Given the description of an element on the screen output the (x, y) to click on. 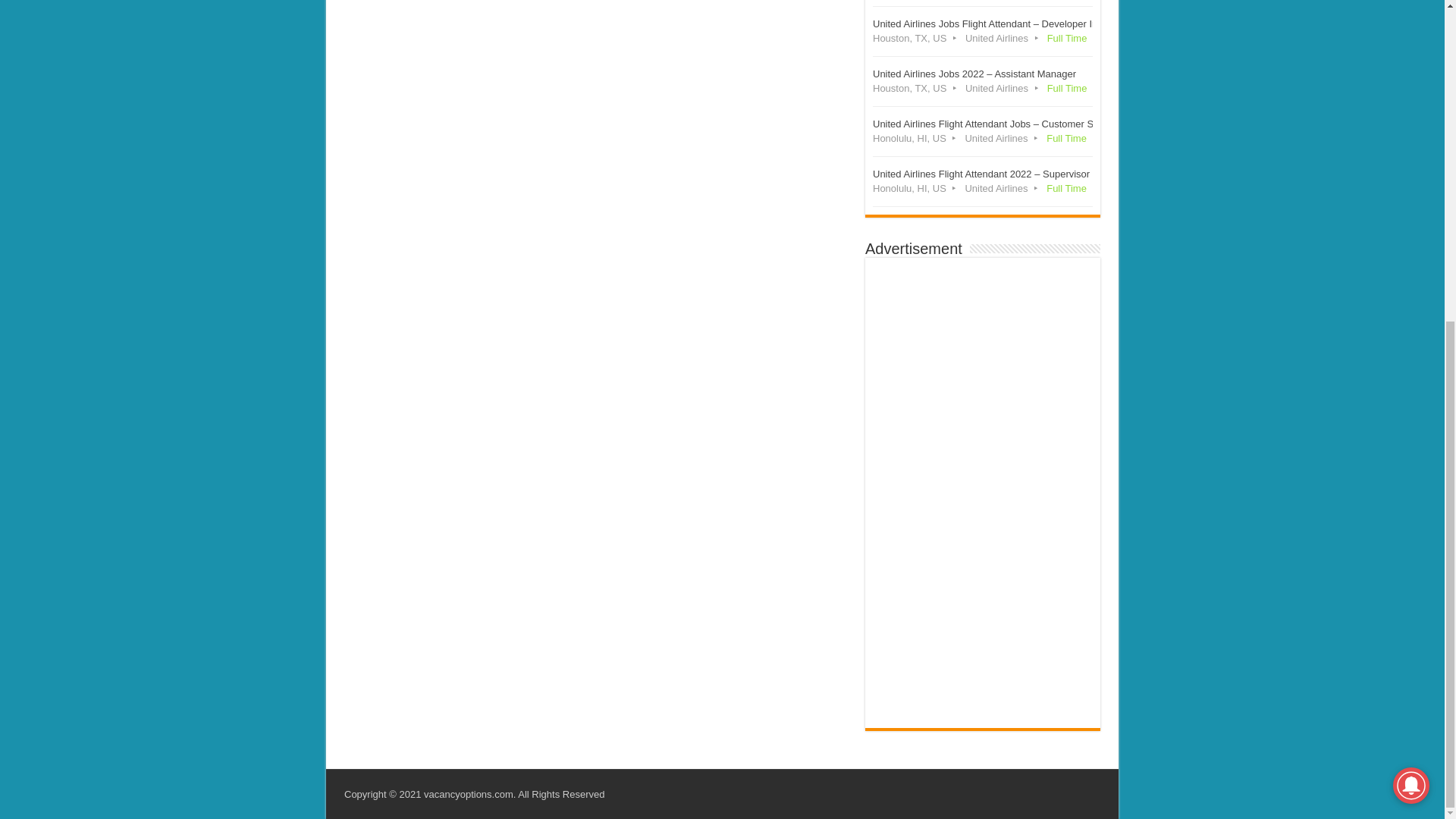
Advertisement (593, 82)
